Given the description of an element on the screen output the (x, y) to click on. 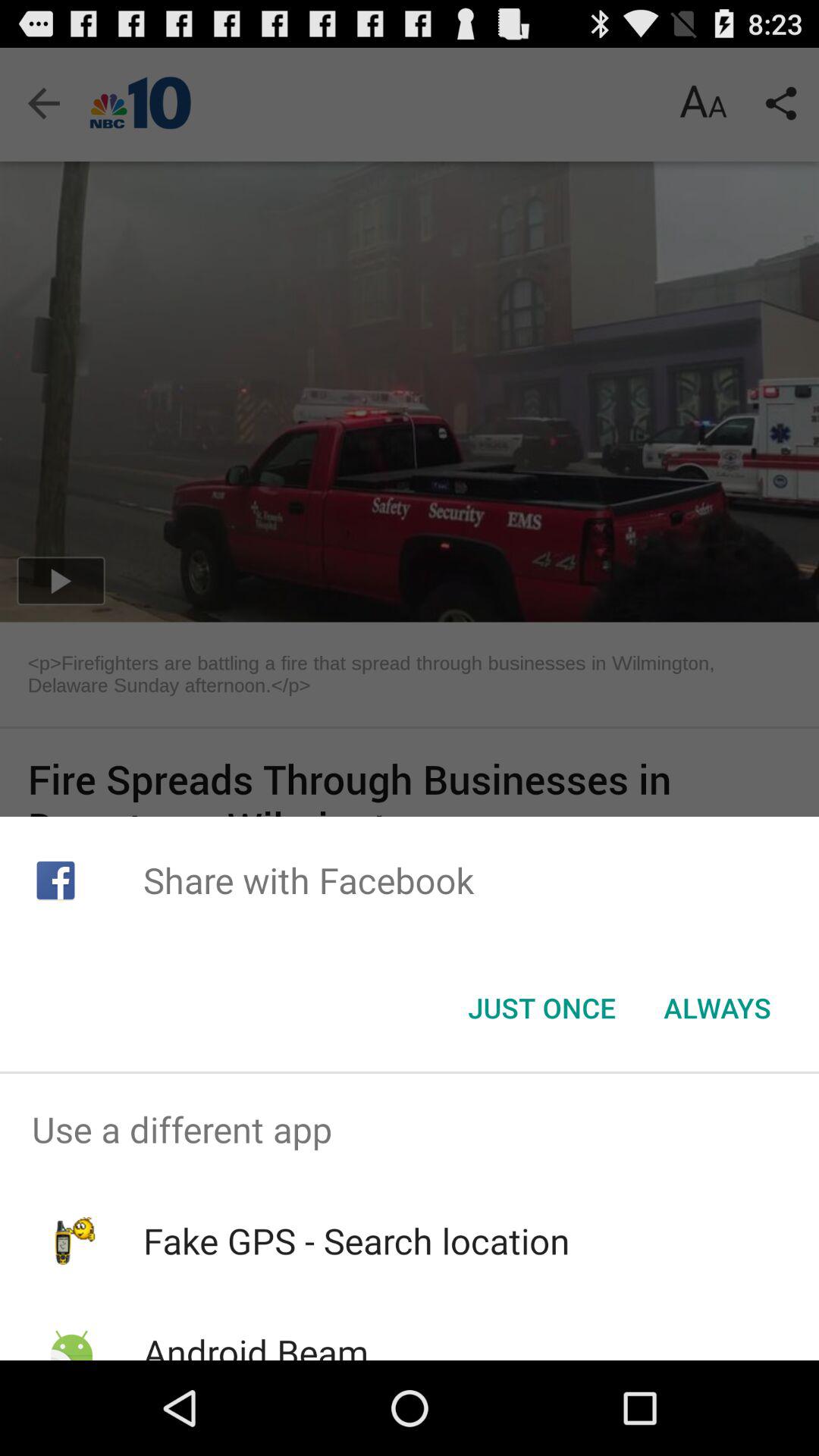
turn on the item to the left of the always icon (541, 1007)
